Given the description of an element on the screen output the (x, y) to click on. 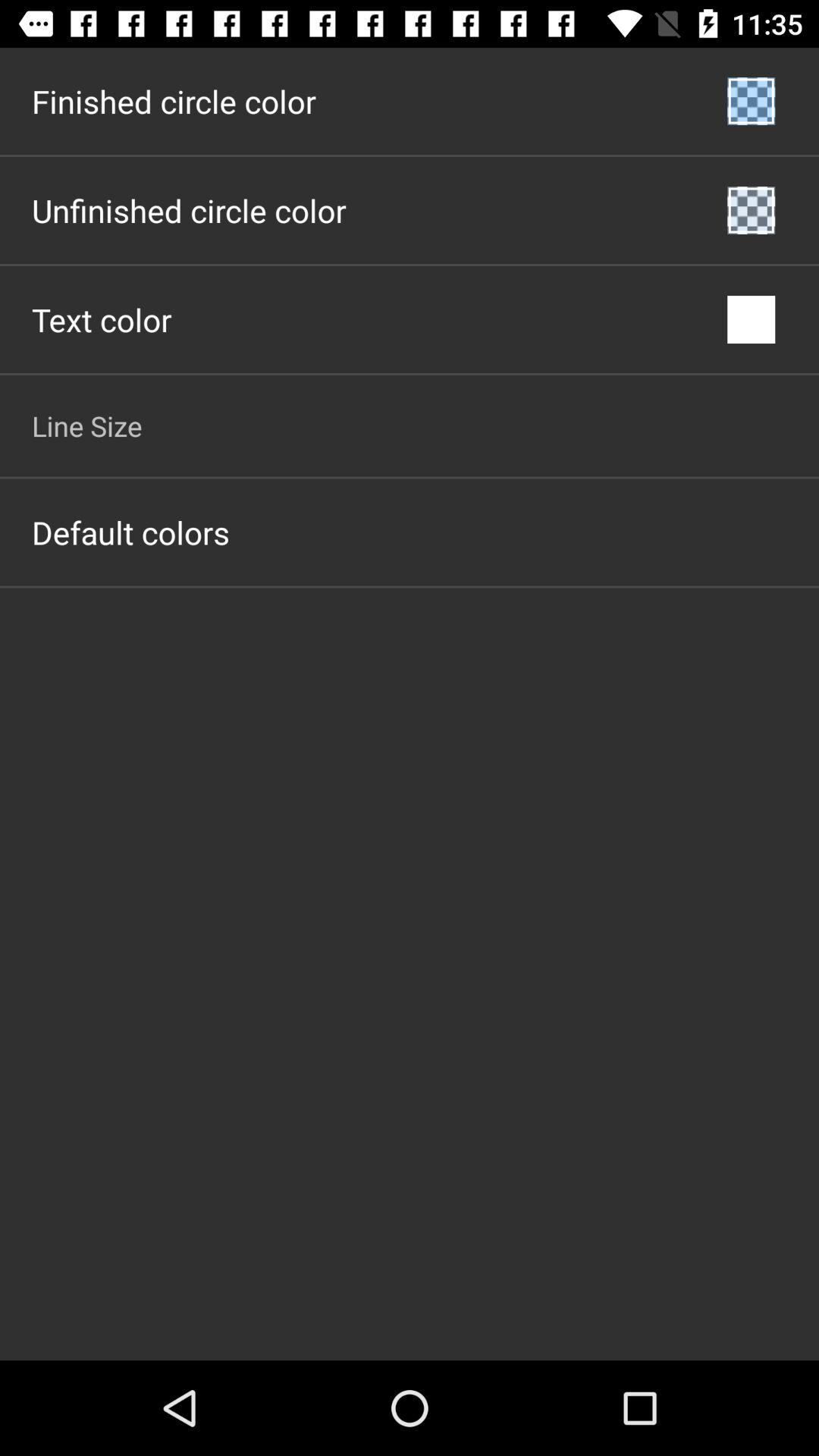
press the icon to the right of the text color (751, 319)
